Given the description of an element on the screen output the (x, y) to click on. 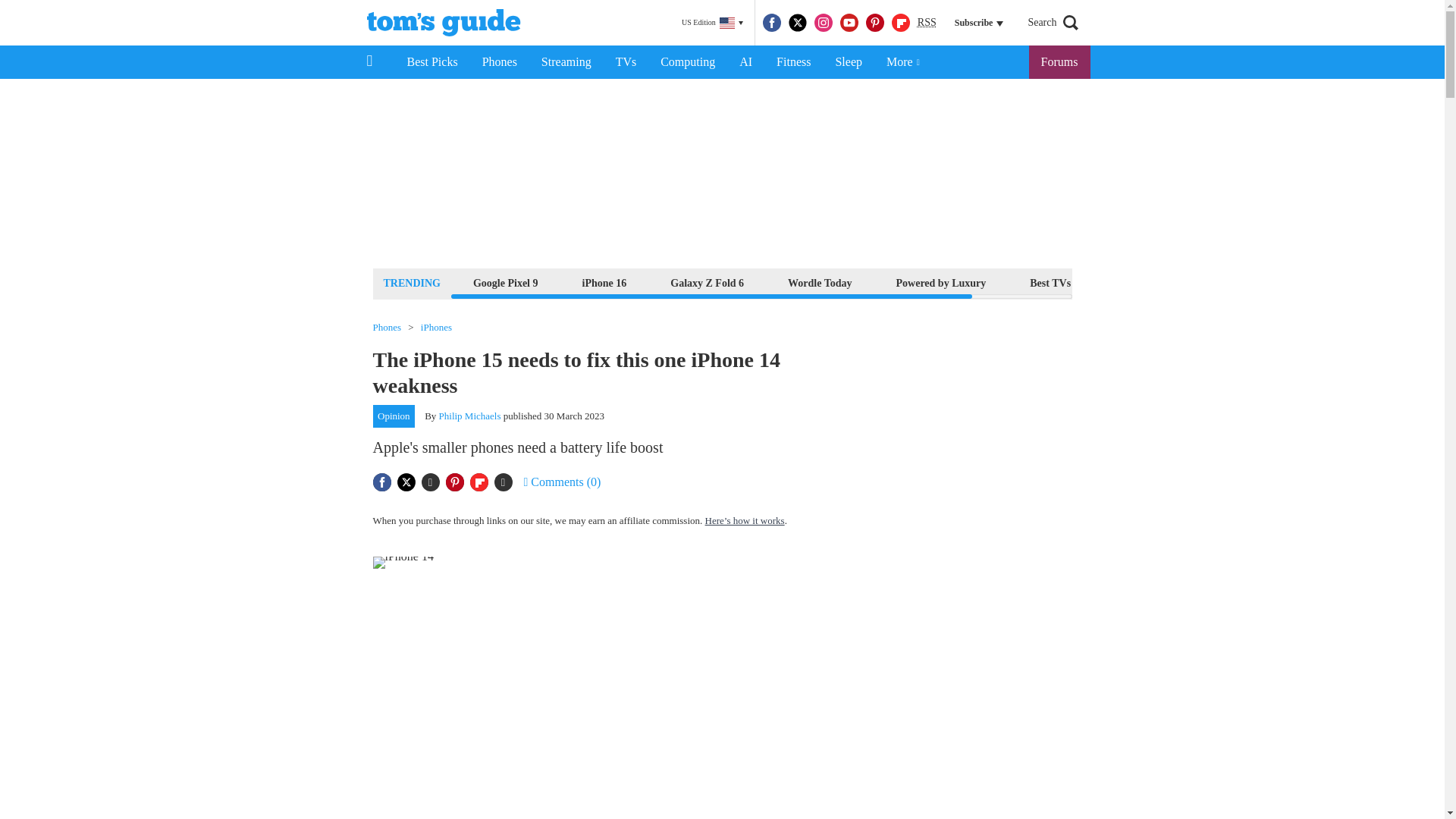
Best Picks (431, 61)
Computing (686, 61)
Streaming (566, 61)
US Edition (712, 22)
TVs (626, 61)
Sleep (848, 61)
Fitness (793, 61)
AI (745, 61)
Phones (499, 61)
Really Simple Syndication (926, 21)
